Given the description of an element on the screen output the (x, y) to click on. 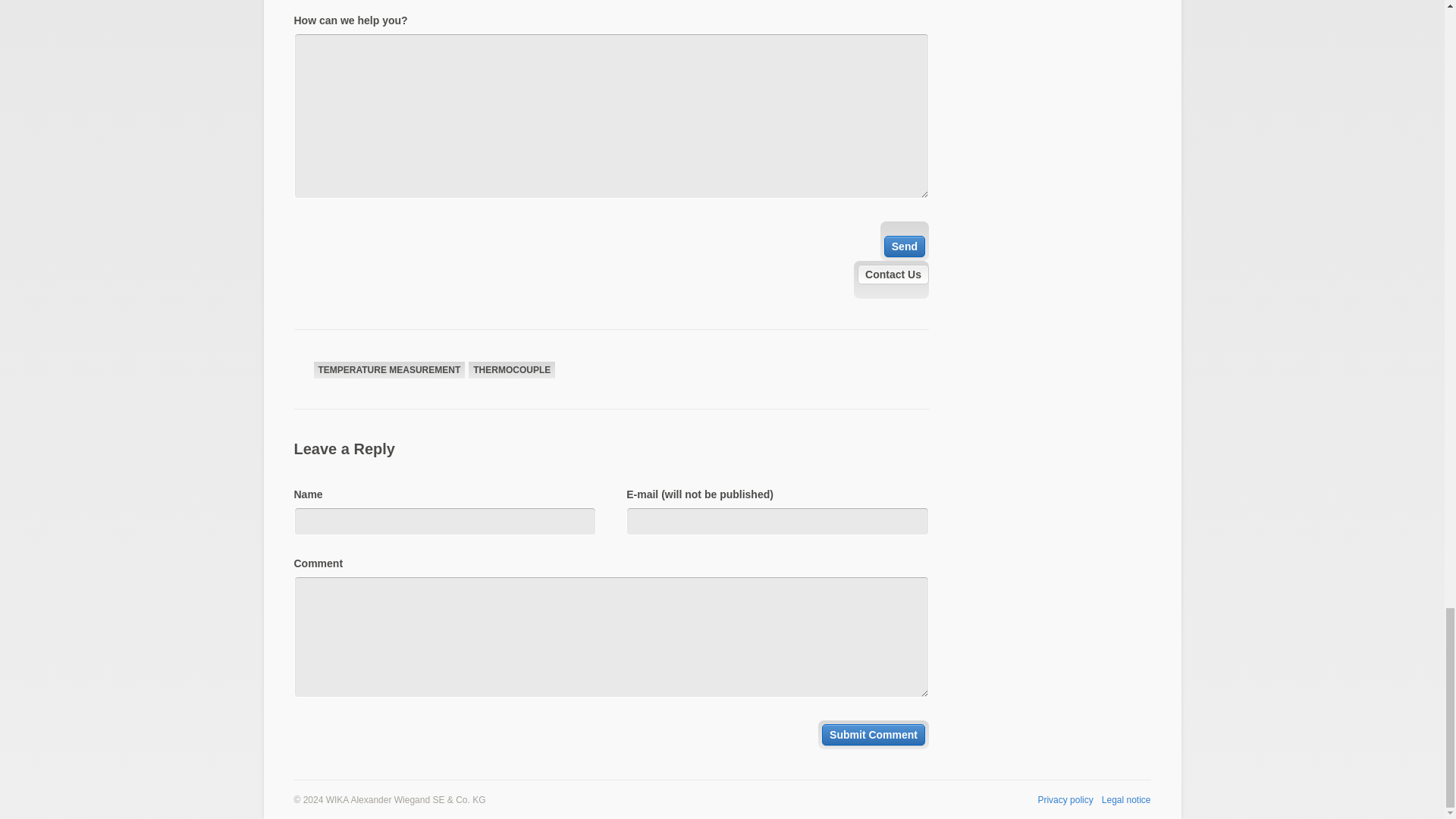
Send (903, 246)
Submit Comment (873, 734)
